Given the description of an element on the screen output the (x, y) to click on. 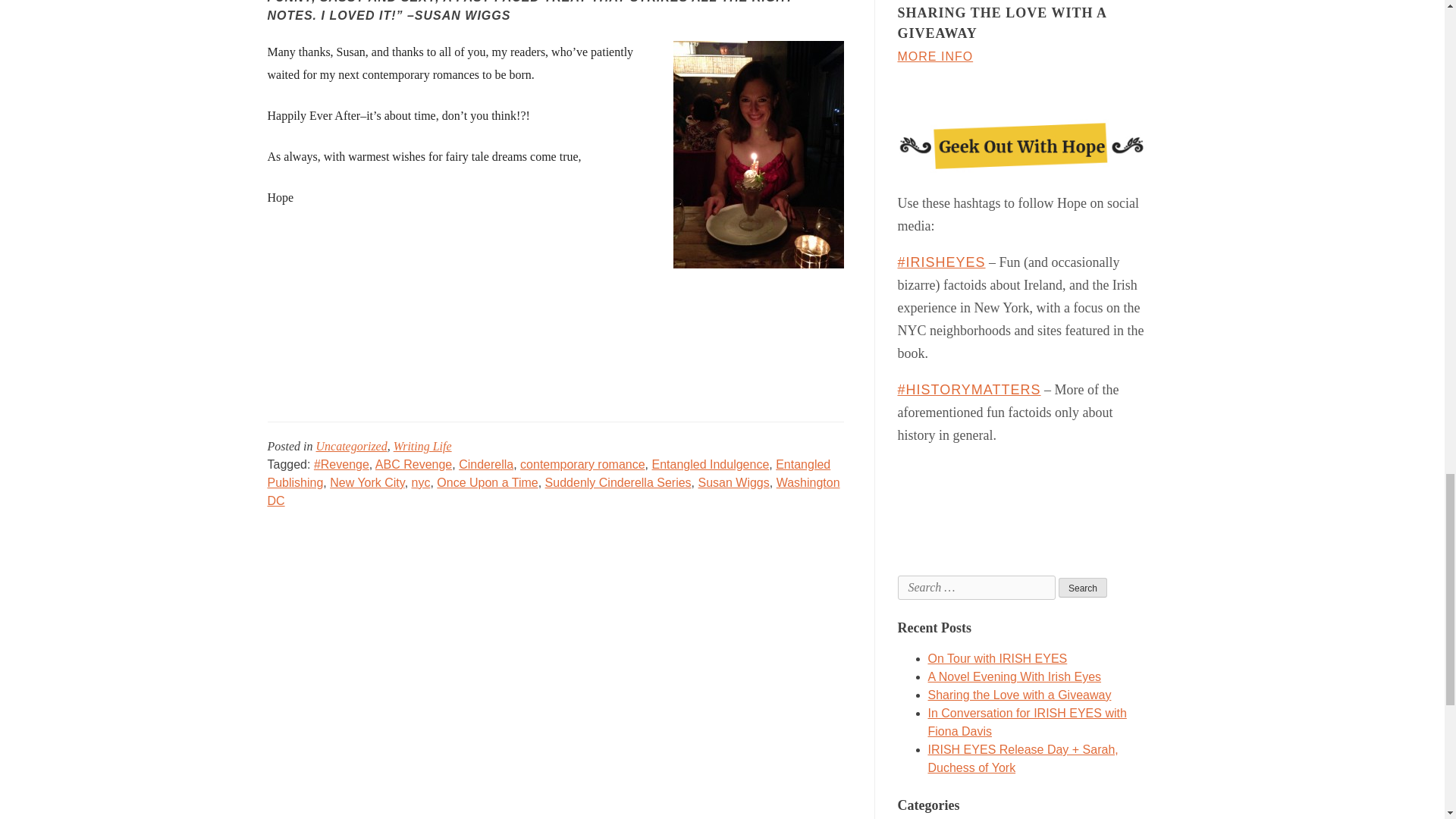
Search (1082, 587)
Writing Life (422, 445)
Uncategorized (351, 445)
Search (1082, 587)
